Given the description of an element on the screen output the (x, y) to click on. 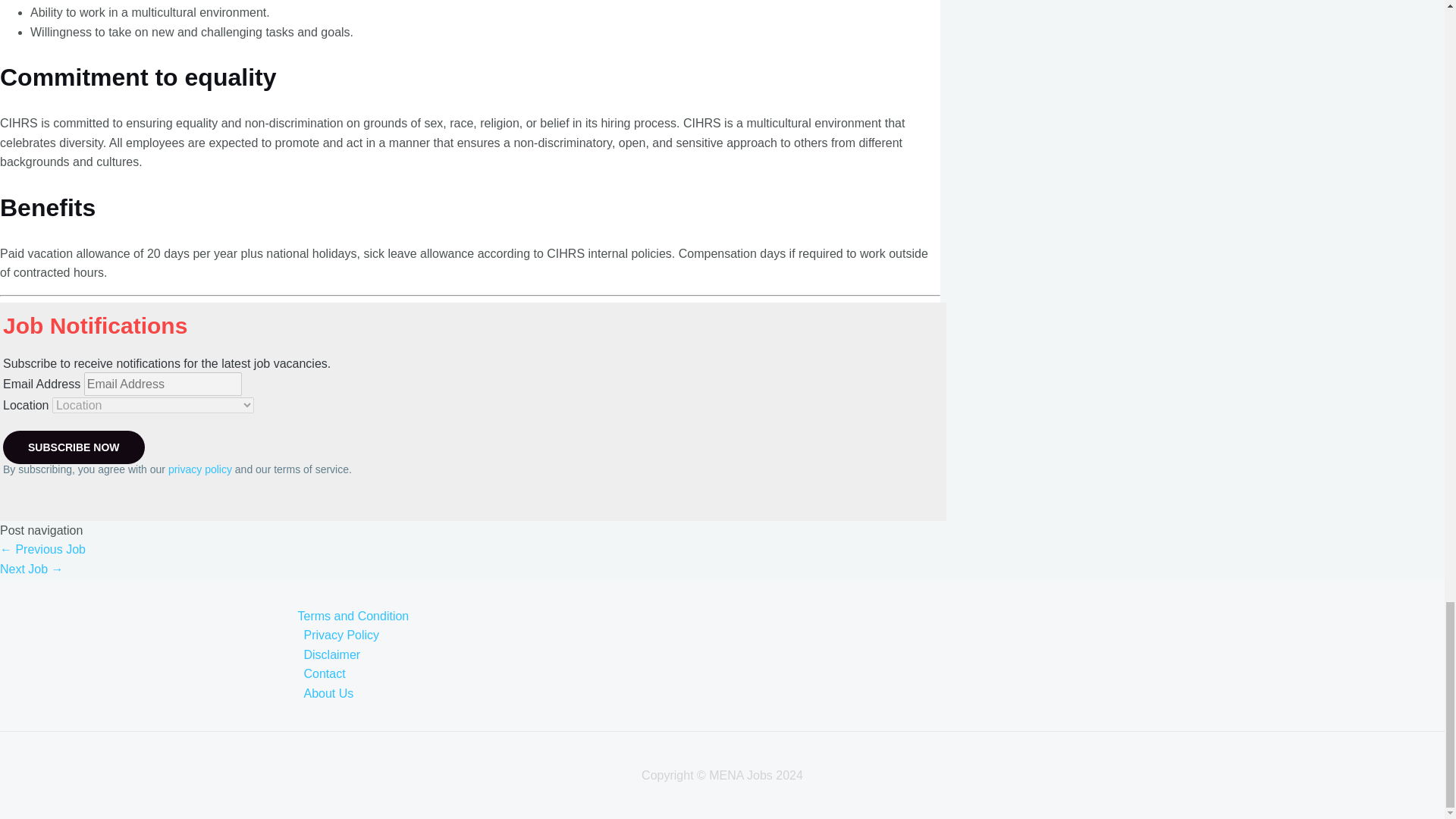
Terms and Condition (736, 616)
Subscribe Now (73, 447)
About Us (736, 693)
Privacy Policy (736, 635)
Technical Advisor (42, 549)
Disclaimer (736, 655)
Contact (736, 673)
Subscribe Now (73, 447)
privacy policy (199, 469)
